Given the description of an element on the screen output the (x, y) to click on. 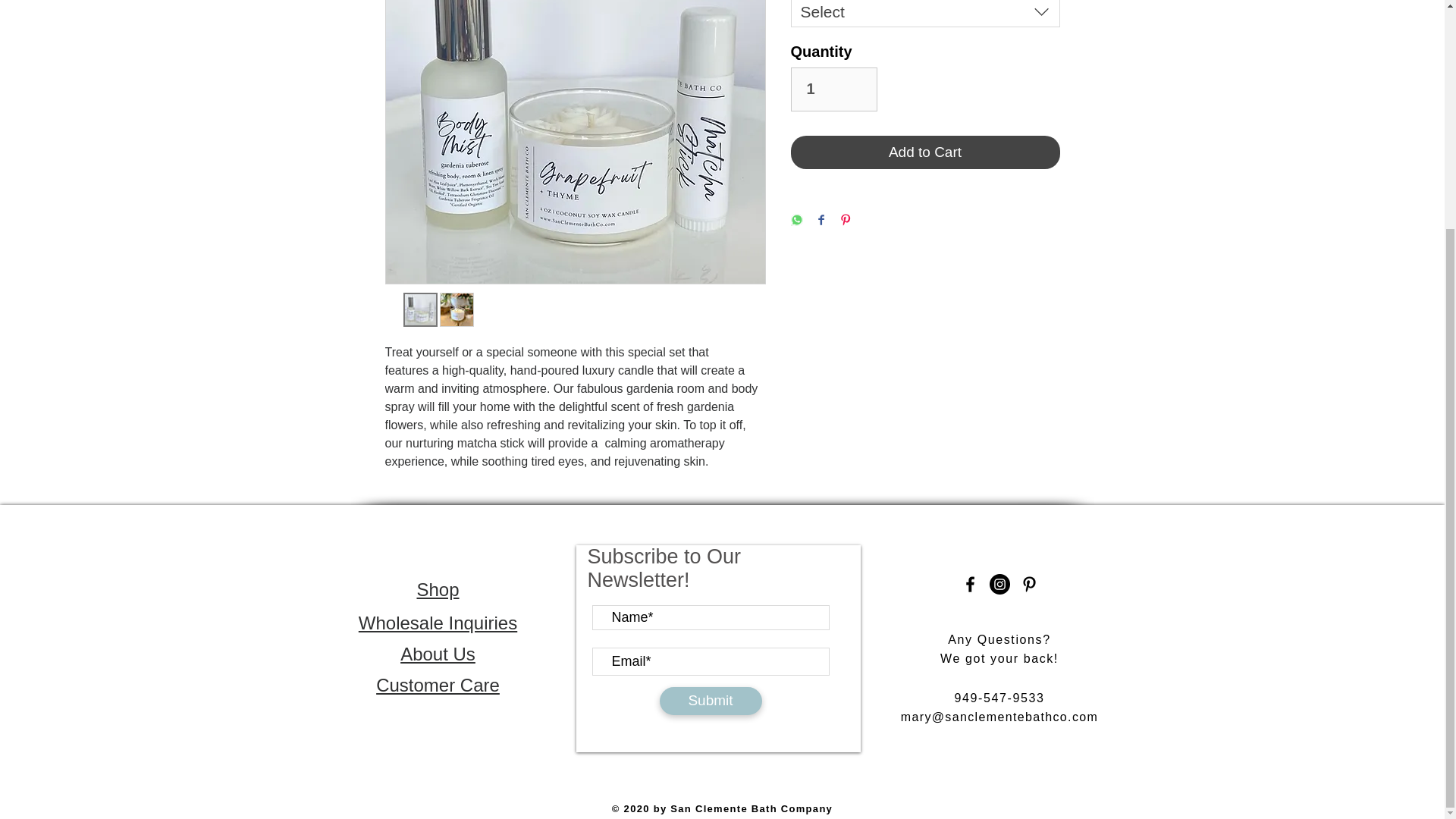
Add to Cart (924, 152)
1 (833, 89)
Shop (437, 589)
Submit (710, 700)
Wholesale Inquiries (437, 622)
About Us (438, 653)
Select (924, 13)
Customer Care (437, 684)
